Given the description of an element on the screen output the (x, y) to click on. 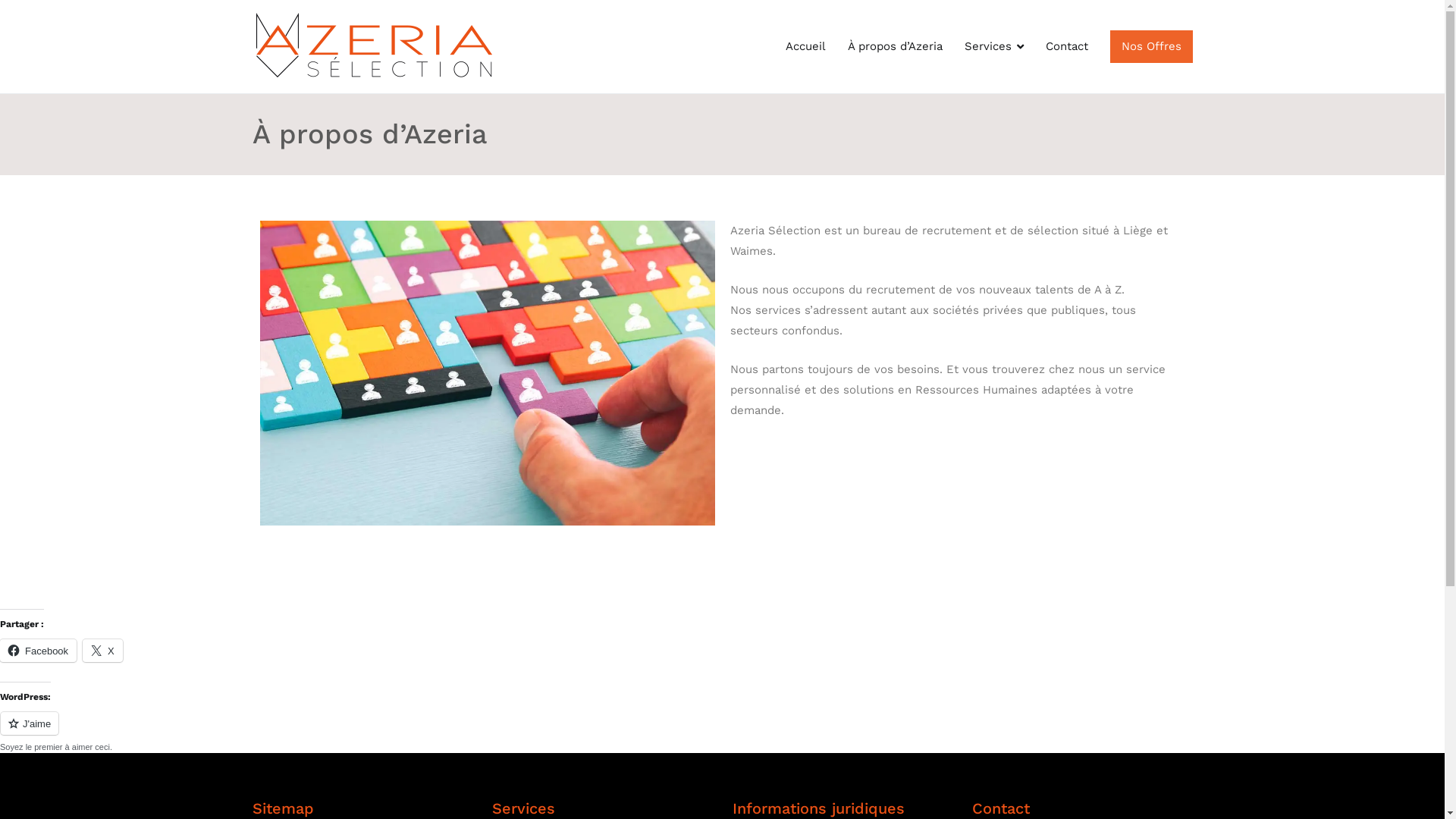
Accueil Element type: text (805, 46)
Services Element type: text (993, 46)
X Element type: text (102, 649)
Facebook Element type: text (38, 649)
Contact Element type: text (1066, 46)
Nos Offres Element type: text (1151, 46)
Like or Reblog Element type: hover (722, 732)
